Given the description of an element on the screen output the (x, y) to click on. 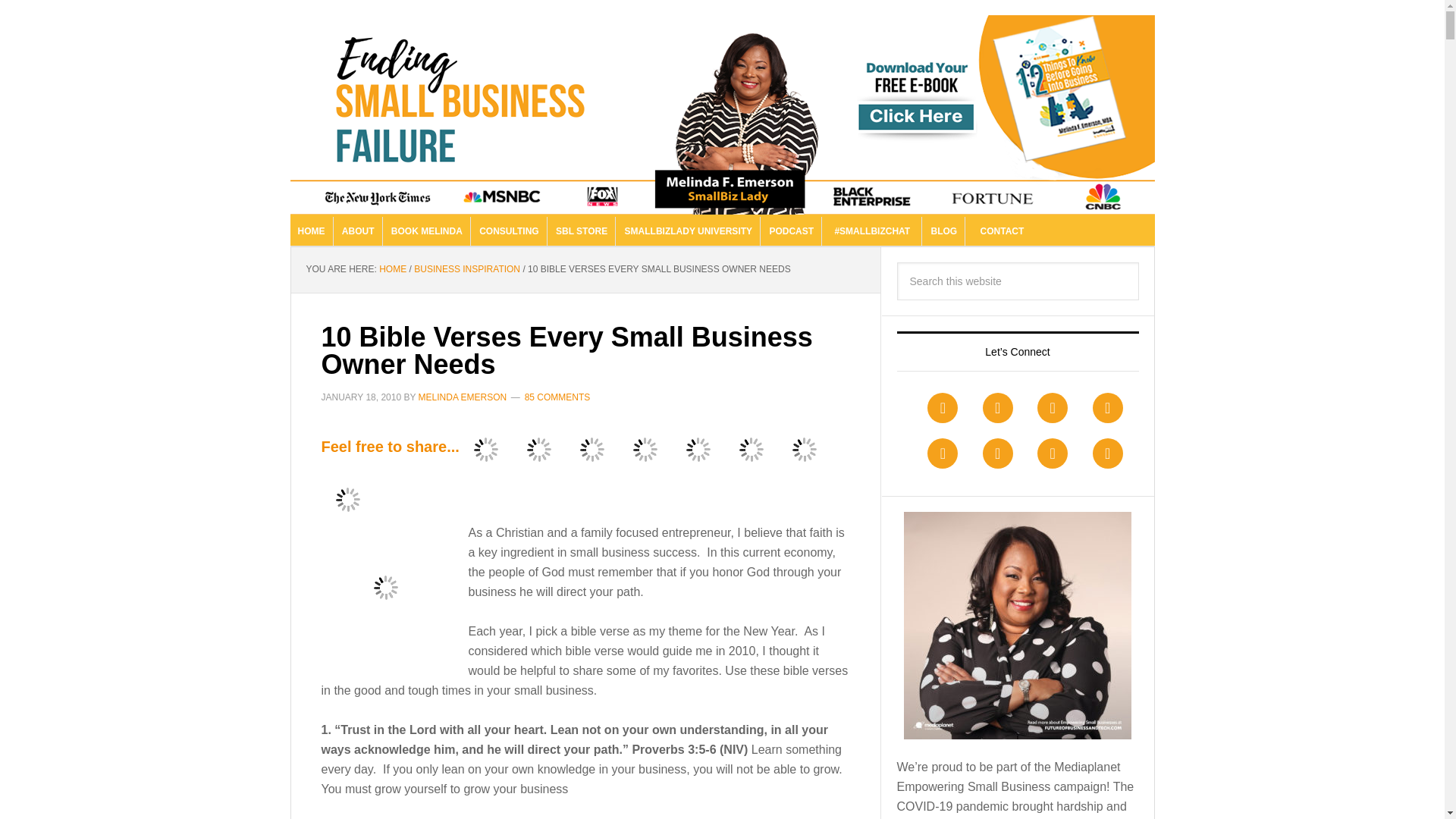
85 COMMENTS (557, 397)
google (592, 449)
CONTACT (1002, 231)
PODCAST (791, 231)
SMALLBIZLADY UNIVERSITY (688, 231)
linkedin (644, 449)
MELINDA EMERSON (462, 397)
Feel free to share... (390, 446)
BUSINESS INSPIRATION (466, 268)
HOME (311, 231)
